Given the description of an element on the screen output the (x, y) to click on. 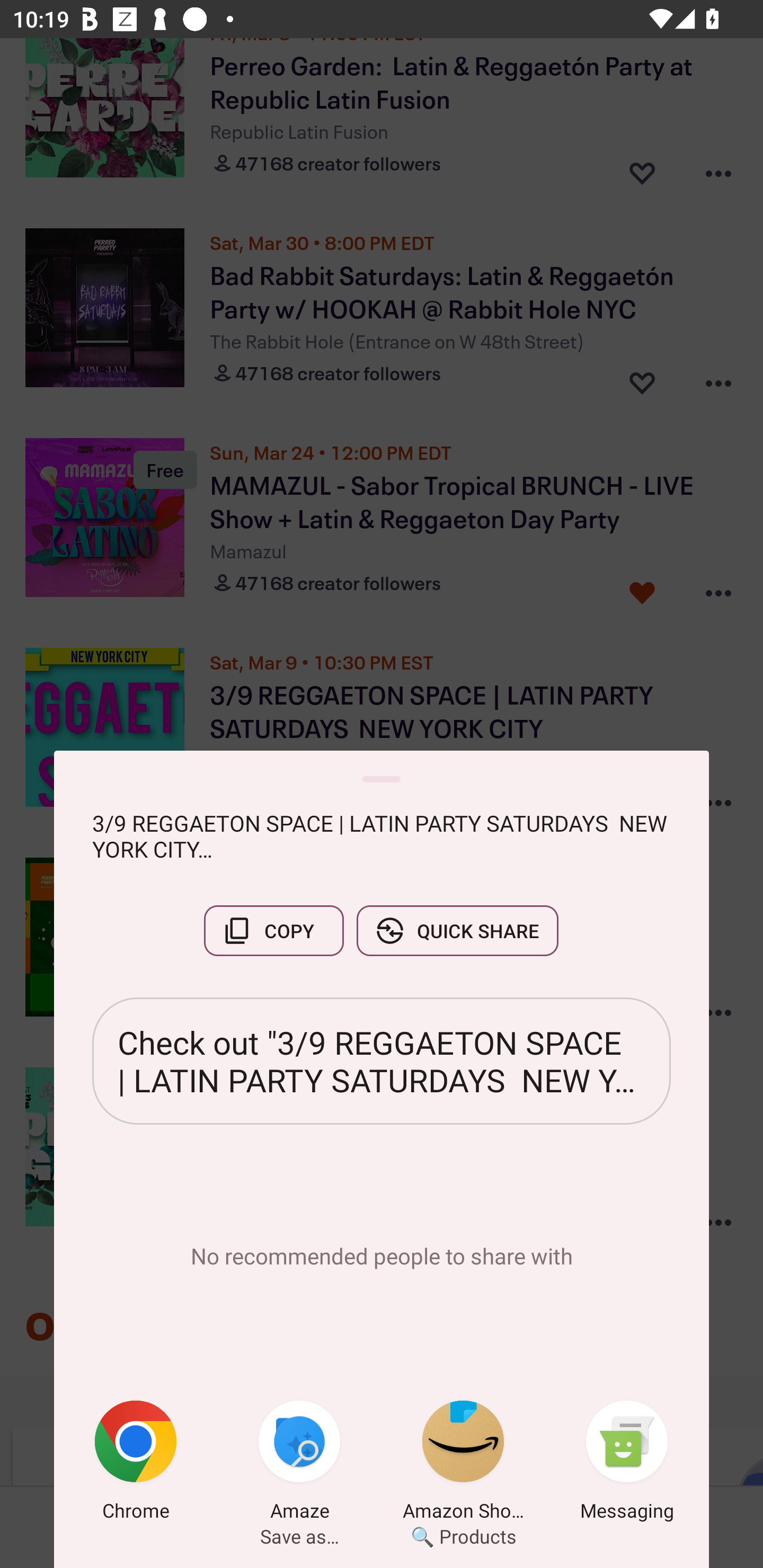
COPY (273, 930)
QUICK SHARE (457, 930)
Chrome (135, 1463)
Amaze Save as… (299, 1463)
Amazon Shopping 🔍 Products (463, 1463)
Messaging (626, 1463)
